Given the description of an element on the screen output the (x, y) to click on. 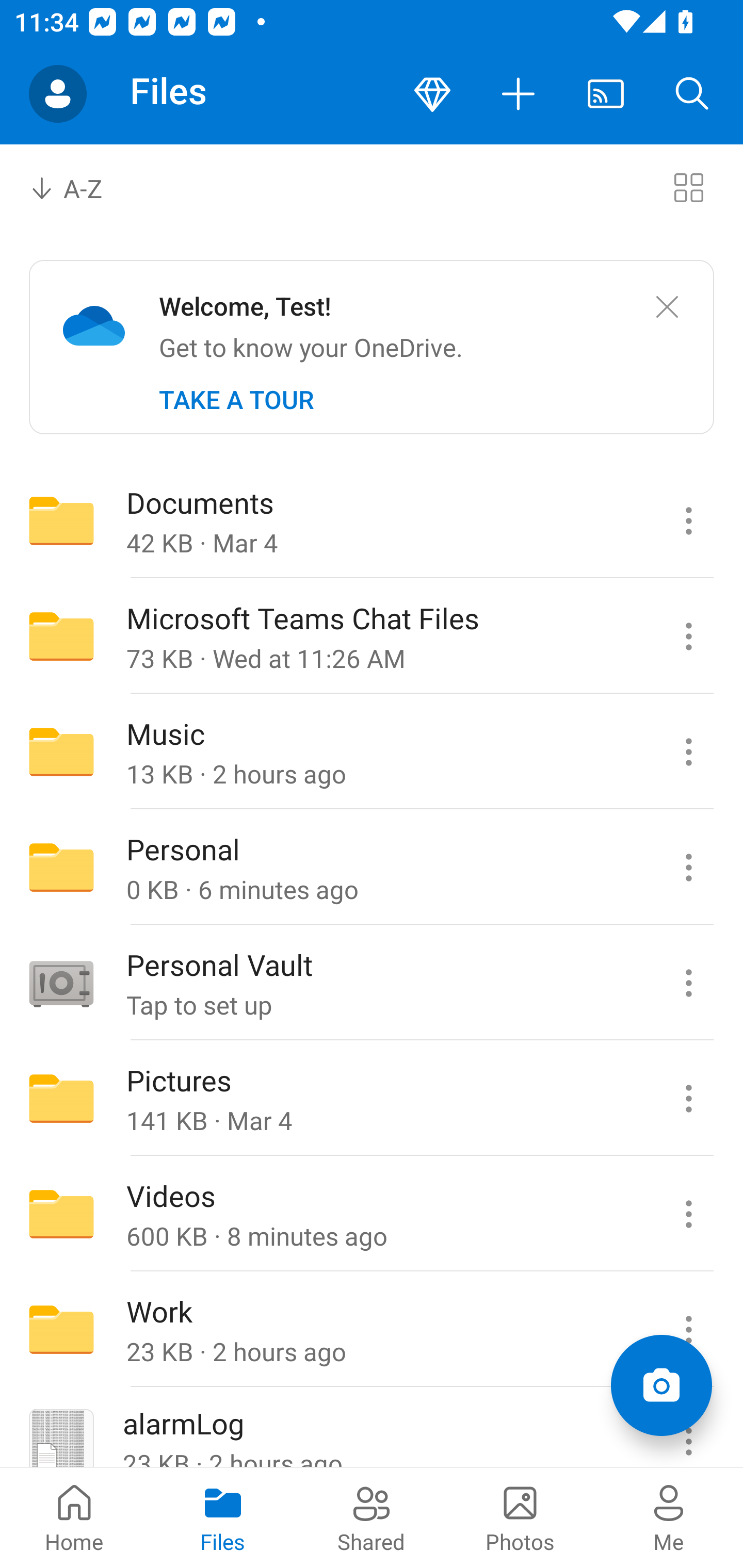
Account switcher (57, 93)
Cast. Disconnected (605, 93)
Premium button (432, 93)
More actions button (518, 93)
Search button (692, 93)
A-Z Sort by combo box, sort by name, A to Z (80, 187)
Switch to tiles view (688, 187)
Close (667, 307)
TAKE A TOUR (236, 399)
Folder Documents 42 KB · Mar 4 Documents commands (371, 520)
Documents commands (688, 520)
Microsoft Teams Chat Files commands (688, 636)
Folder Music 13 KB · 2 hours ago Music commands (371, 751)
Music commands (688, 751)
Personal commands (688, 867)
Personal Vault commands (688, 983)
Folder Pictures 141 KB · Mar 4 Pictures commands (371, 1099)
Pictures commands (688, 1099)
Videos commands (688, 1214)
Folder Work 23 KB · 2 hours ago Work commands (371, 1329)
Work commands (688, 1329)
Add items Scan (660, 1385)
alarmLog commands (688, 1427)
Home pivot Home (74, 1517)
Shared pivot Shared (371, 1517)
Photos pivot Photos (519, 1517)
Me pivot Me (668, 1517)
